Given the description of an element on the screen output the (x, y) to click on. 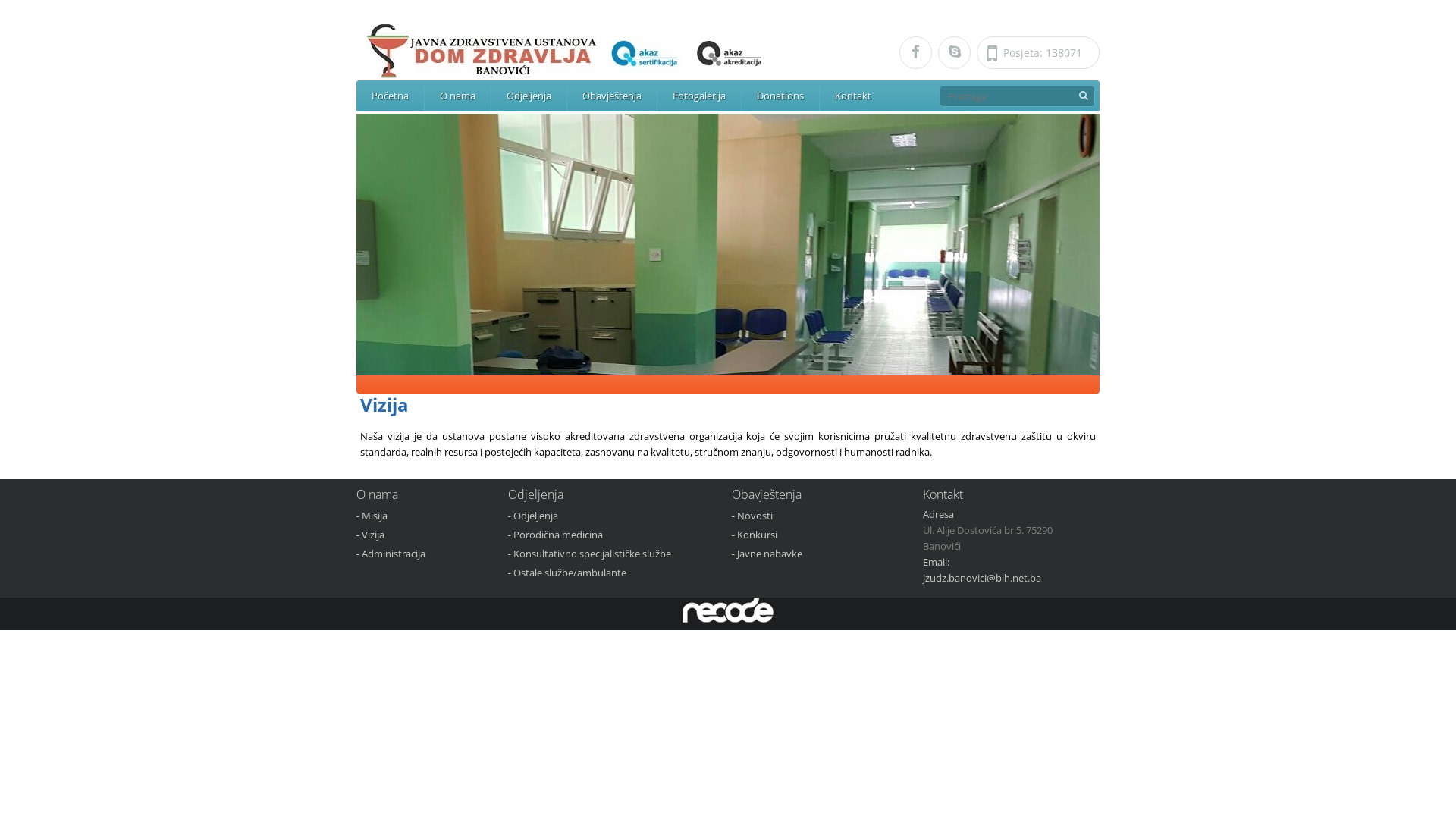
Misija Element type: text (374, 515)
jzudz.banovici@bih.net.ba Element type: text (981, 577)
Javne nabavke Element type: text (769, 553)
Kontakt Element type: text (852, 95)
Odjeljenja Element type: text (528, 95)
Novosti Element type: text (754, 515)
Konkursi Element type: text (757, 534)
O nama Element type: text (457, 95)
Administracija Element type: text (393, 553)
Fotogalerija Element type: text (698, 95)
Vizija Element type: text (372, 534)
Donations Element type: text (780, 95)
Odjeljenja Element type: text (535, 515)
